Given the description of an element on the screen output the (x, y) to click on. 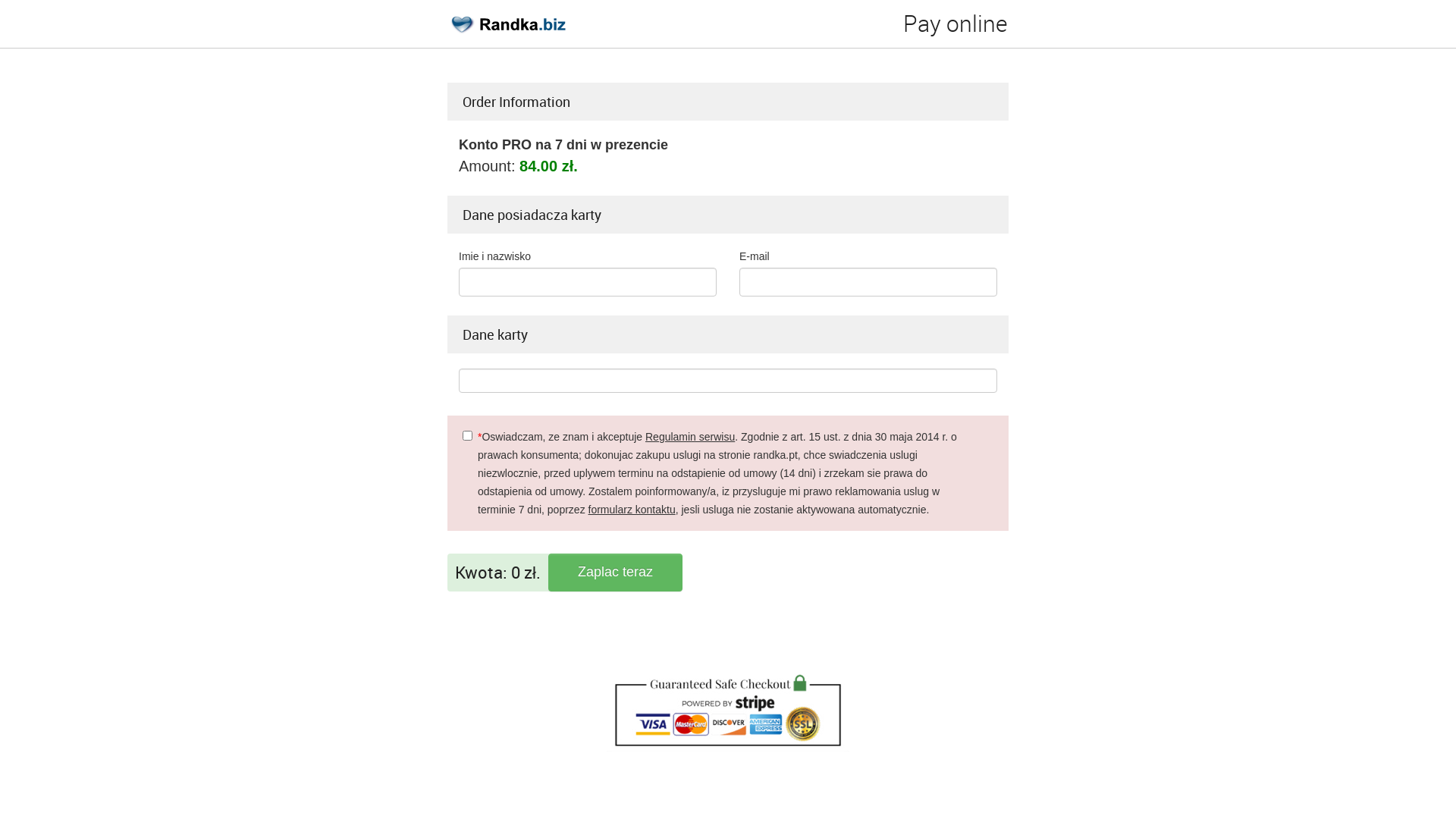
Zaplac teraz Element type: text (615, 572)
formularz kontaktu Element type: text (631, 509)
Regulamin serwisu Element type: text (689, 436)
